Given the description of an element on the screen output the (x, y) to click on. 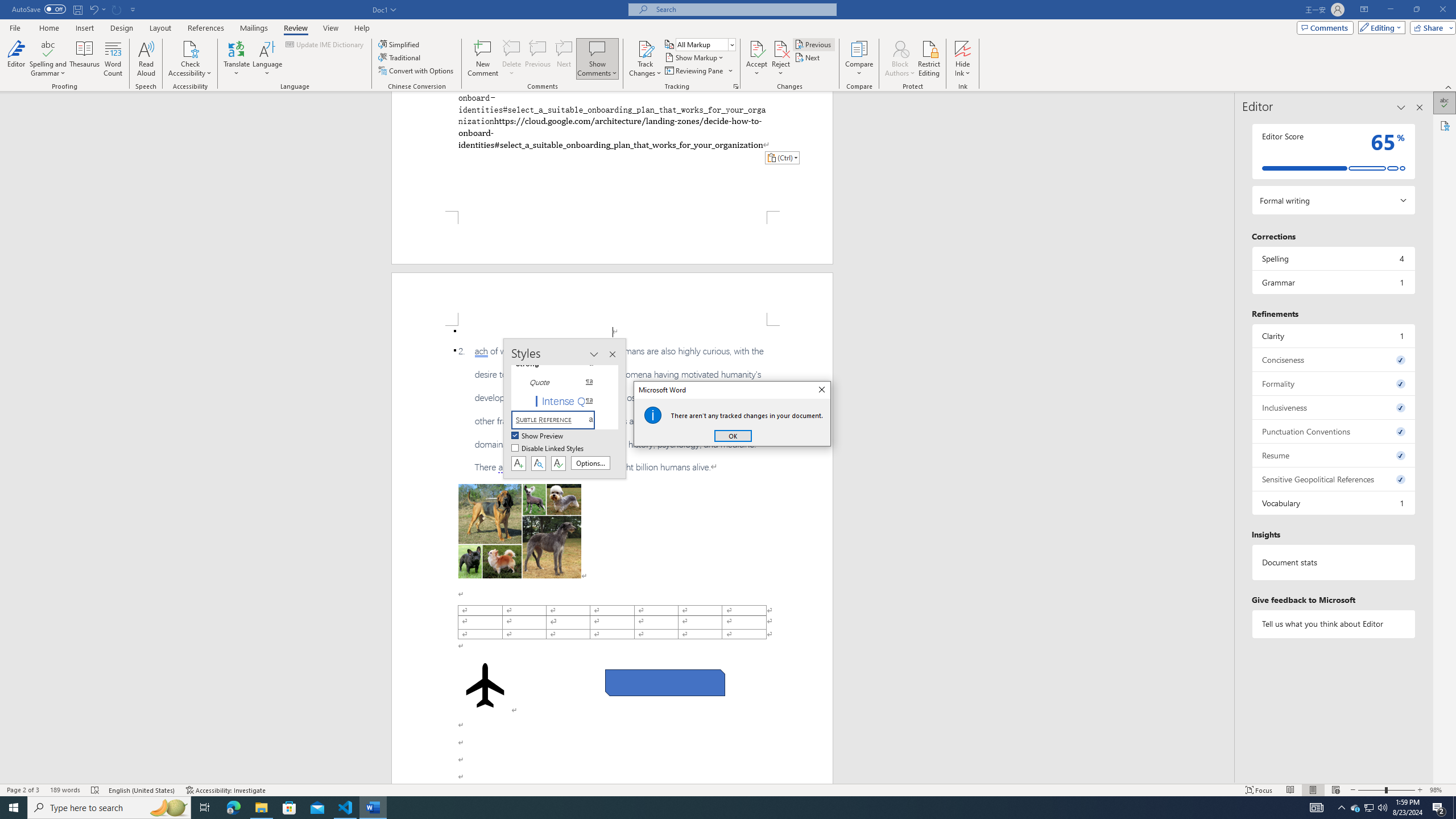
Thesaurus... (84, 58)
Task View (204, 807)
Next (808, 56)
Word Count (113, 58)
Block Authors (900, 58)
Class: Static (652, 415)
Header -Section 1- (611, 298)
Undo Paste (92, 9)
Morphological variation in six dogs (519, 531)
Visual Studio Code - 1 running window (345, 807)
Formality, 0 issues. Press space or enter to review items. (1333, 383)
Running applications (717, 807)
